Given the description of an element on the screen output the (x, y) to click on. 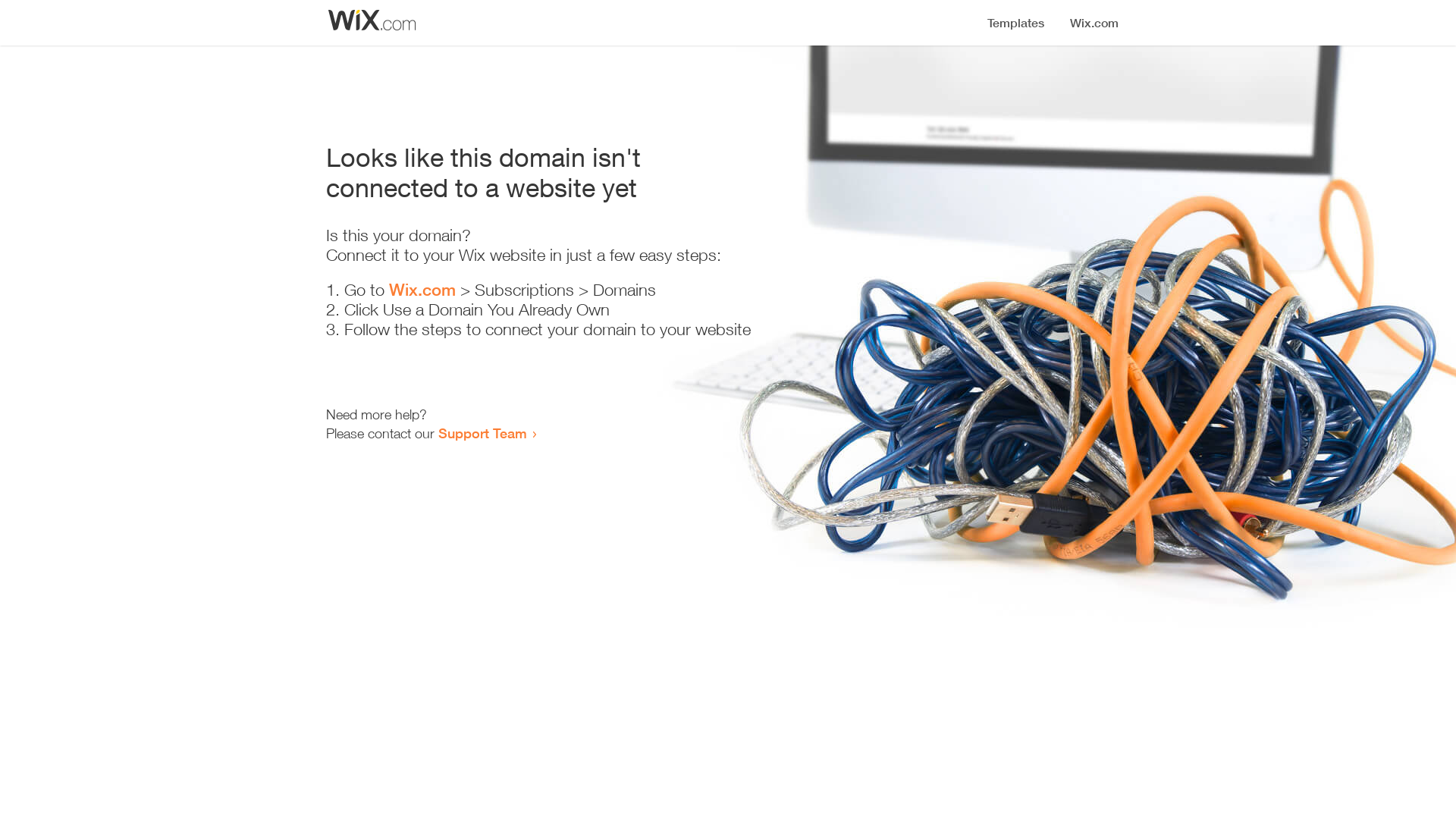
Support Team Element type: text (482, 432)
Wix.com Element type: text (422, 289)
